Given the description of an element on the screen output the (x, y) to click on. 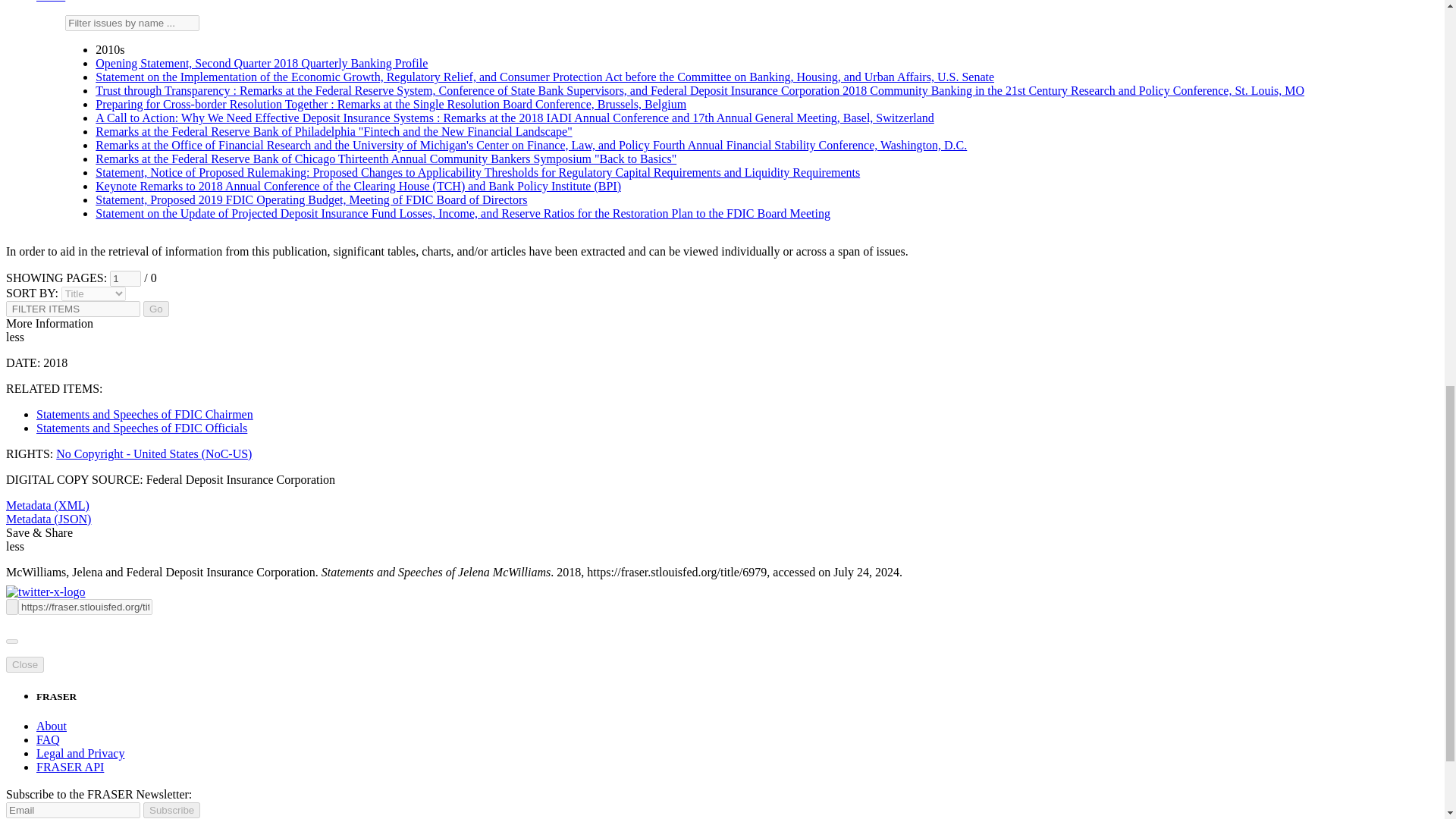
1 (125, 278)
